Given the description of an element on the screen output the (x, y) to click on. 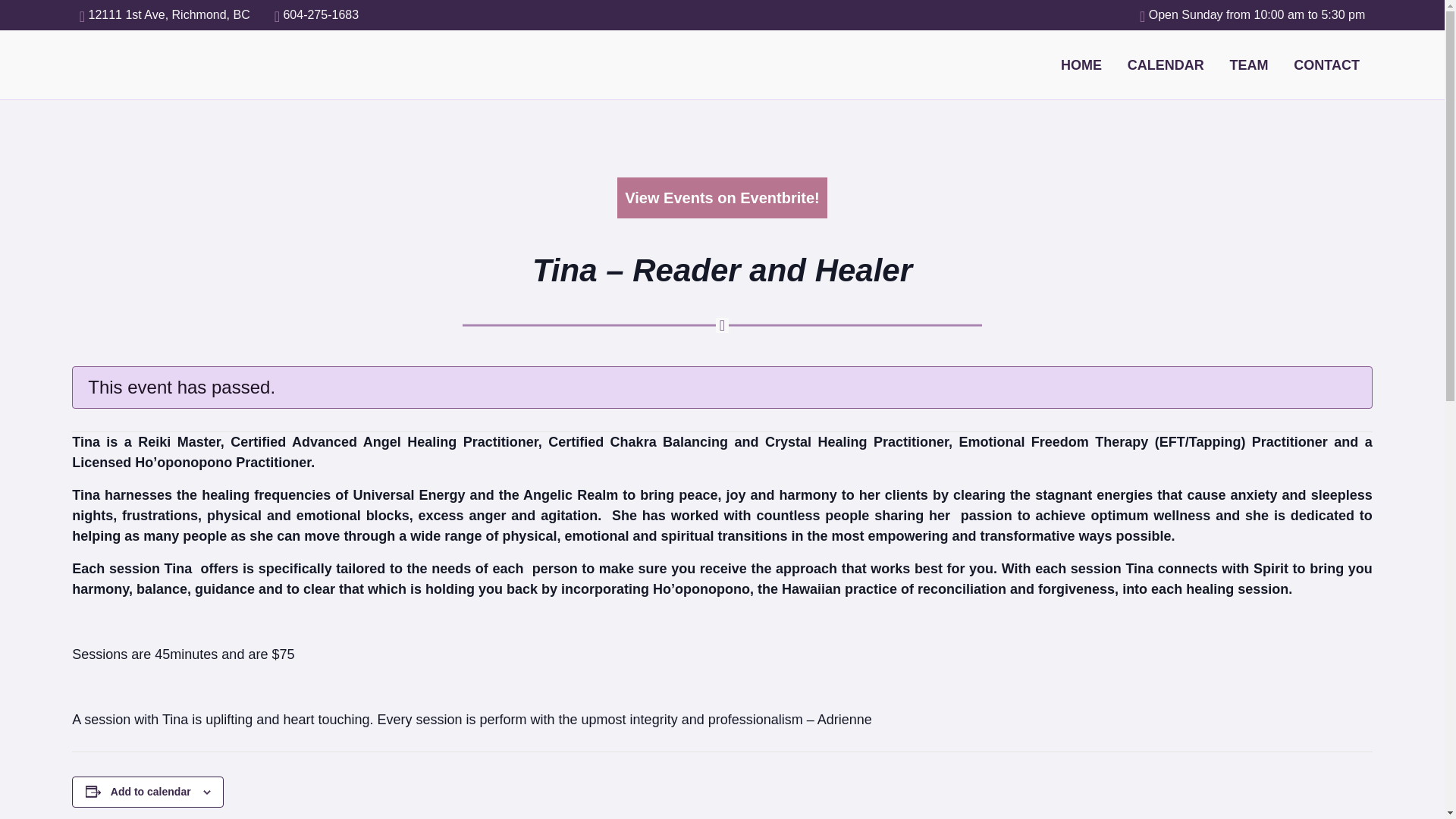
CONTACT (1326, 64)
TEAM (1249, 64)
View Events on Eventbrite! (722, 197)
CALENDAR (1166, 64)
Serendipity's Backyard (124, 64)
HOME (1081, 64)
Add to calendar (150, 791)
